Given the description of an element on the screen output the (x, y) to click on. 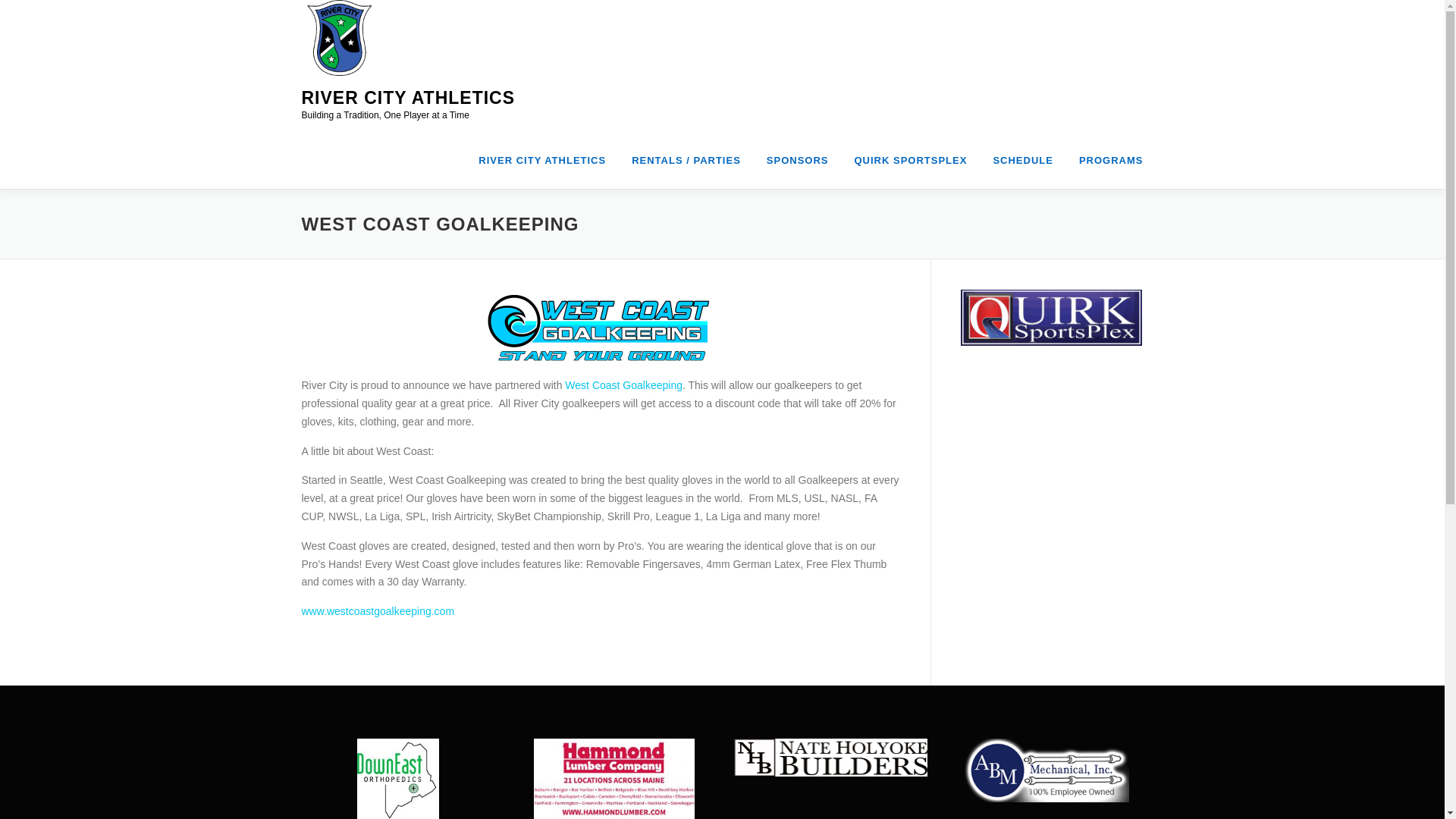
QUIRK SPORTSPLEX (910, 160)
RIVER CITY ATHLETICS (408, 97)
SCHEDULE (1022, 160)
PROGRAMS (1103, 160)
www.westcoastgoalkeeping.com (377, 611)
RIVER CITY ATHLETICS (541, 160)
West Coast Goalkeeping (623, 385)
SPONSORS (797, 160)
